Given the description of an element on the screen output the (x, y) to click on. 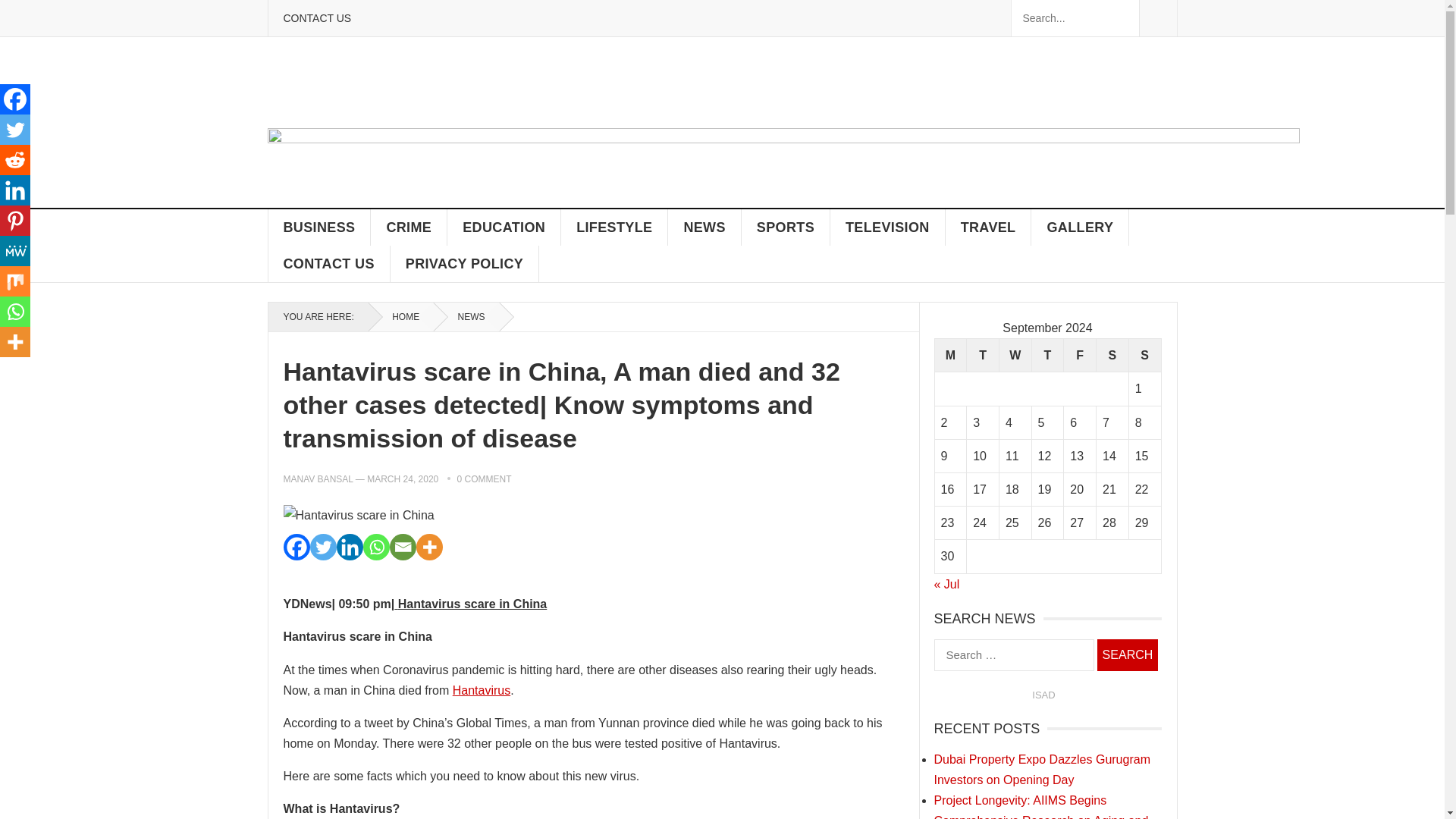
PRIVACY POLICY (464, 263)
Whatsapp (375, 546)
SPORTS (785, 227)
MANAV BANSAL (318, 479)
Twitter (322, 546)
CONTACT US (328, 263)
Posts by Manav Bansal (318, 479)
TRAVEL (988, 227)
TELEVISION (886, 227)
GALLERY (1079, 227)
